Given the description of an element on the screen output the (x, y) to click on. 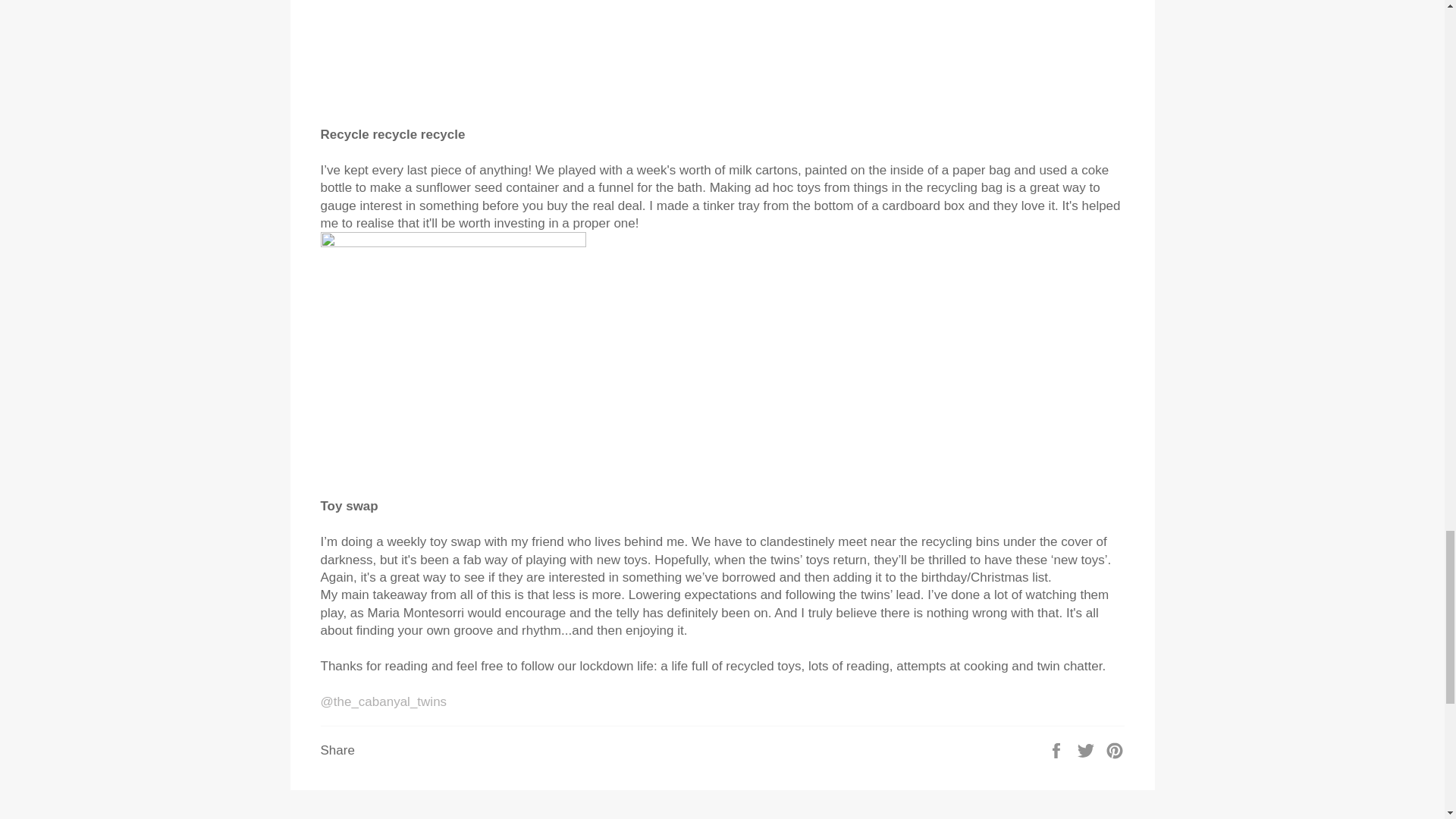
Tweet on Twitter (1088, 749)
Share on Facebook (1057, 749)
Pin on Pinterest (1114, 749)
